Given the description of an element on the screen output the (x, y) to click on. 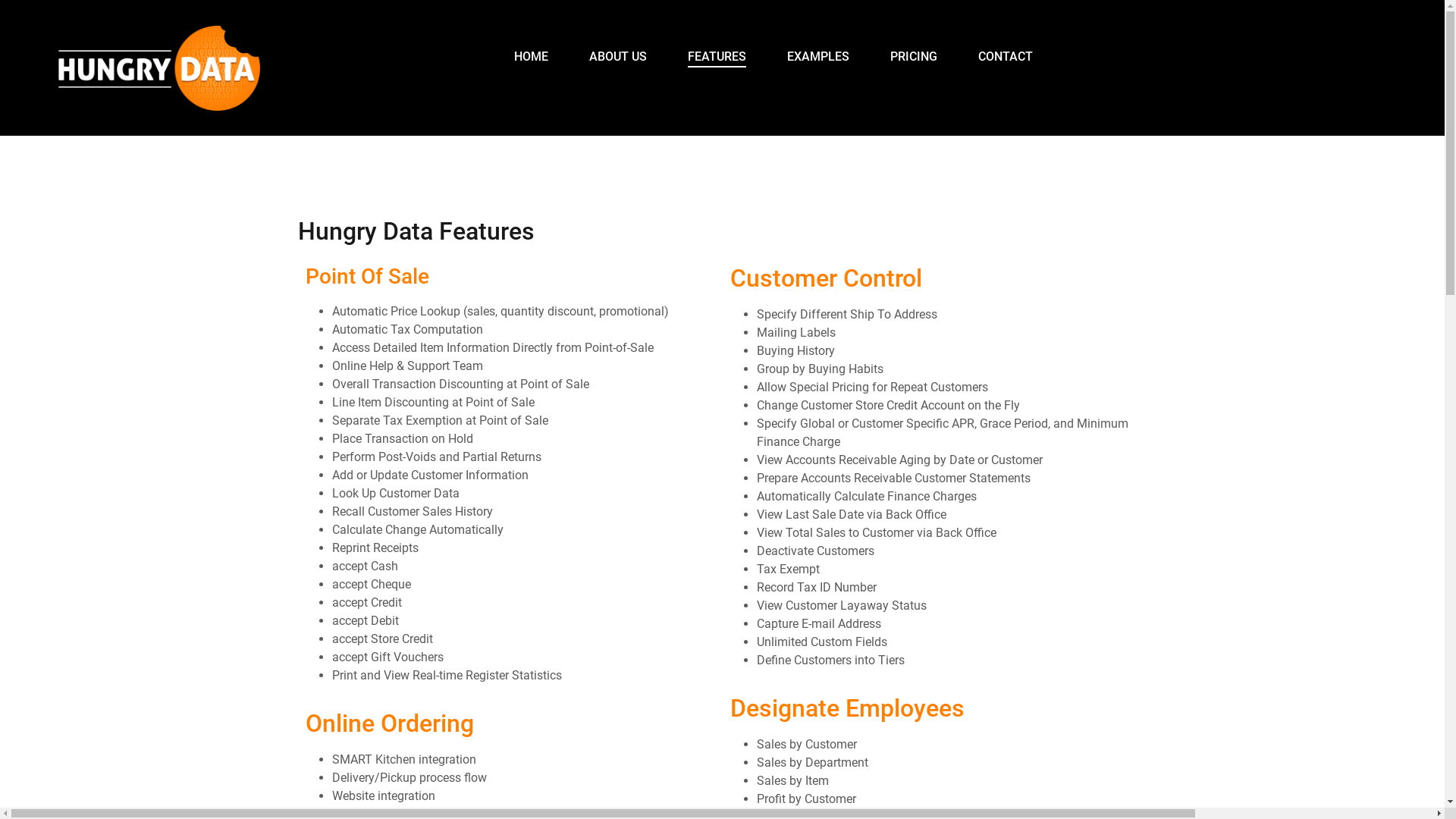
CONTACT Element type: text (1005, 56)
PRICING Element type: text (913, 56)
EXAMPLES Element type: text (818, 56)
FEATURES Element type: text (716, 57)
HOME Element type: text (531, 56)
ABOUT US Element type: text (617, 56)
